Given the description of an element on the screen output the (x, y) to click on. 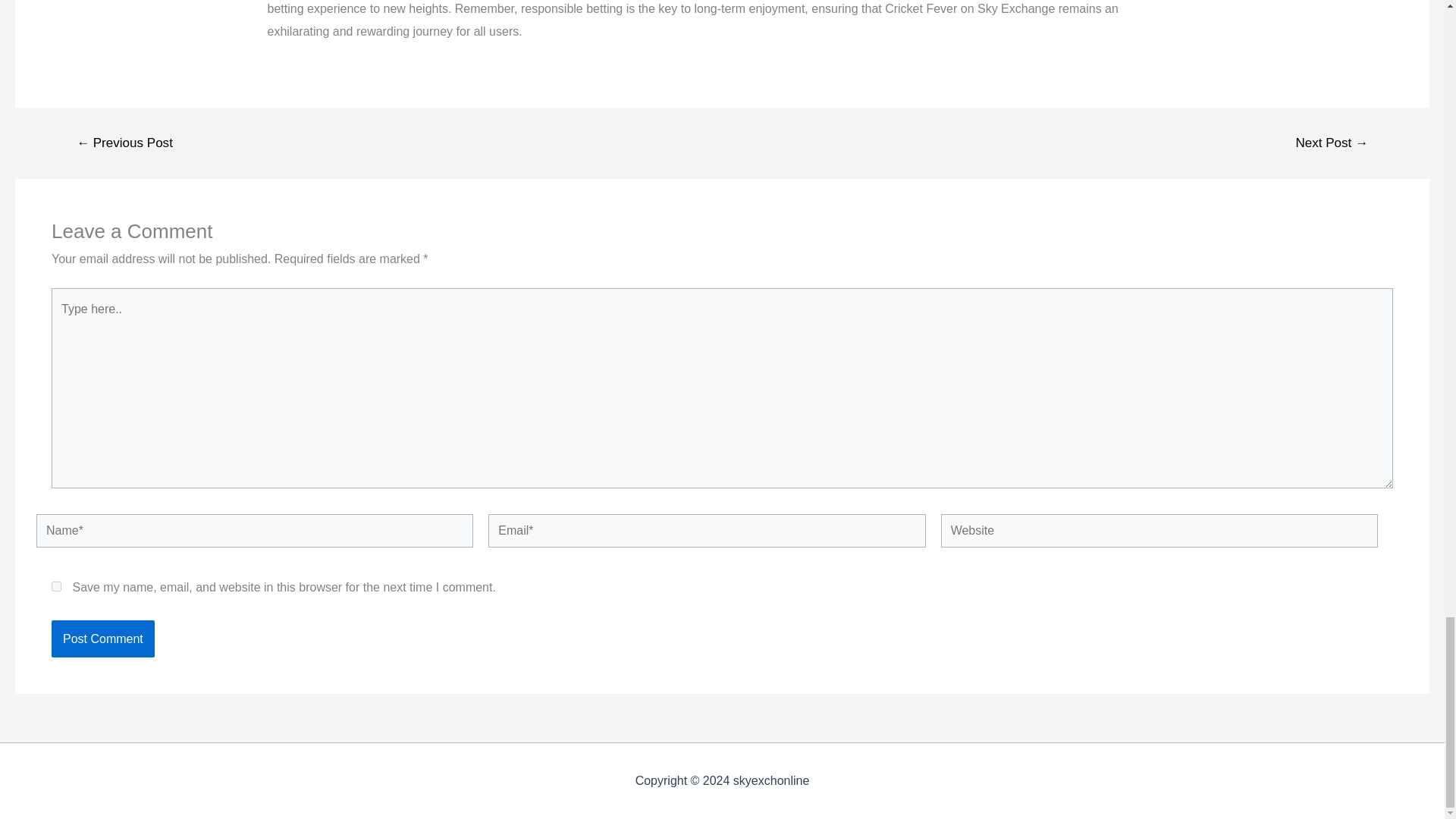
yes (55, 586)
Post Comment (102, 638)
Post Comment (102, 638)
